Given the description of an element on the screen output the (x, y) to click on. 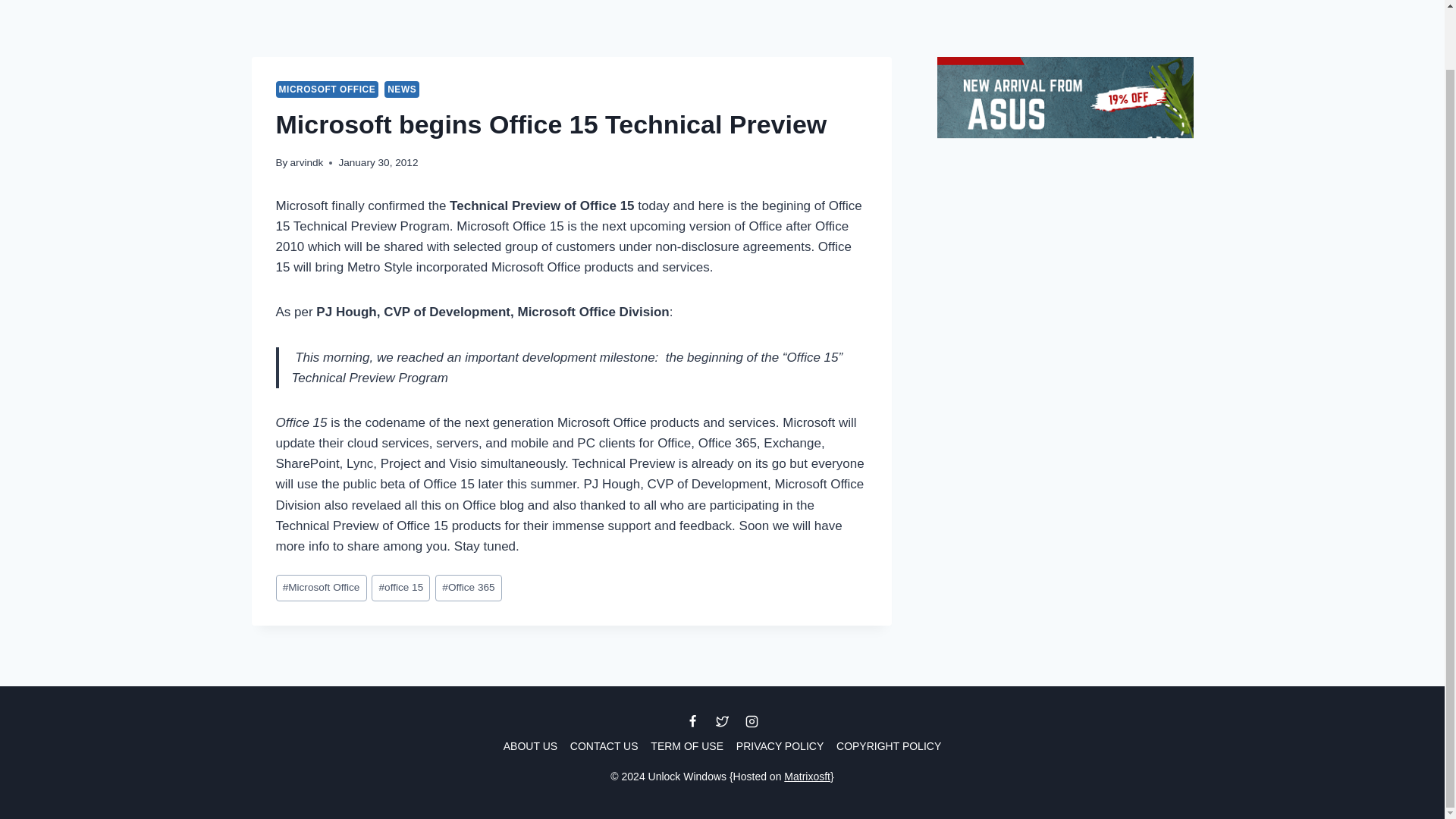
arvindk (306, 162)
Matrixosft (806, 776)
PRIVACY POLICY (779, 746)
NEWS (401, 89)
Microsoft Office (321, 587)
ASP.NET CORE Tutorial For Beginners 1 - Getting Started (1065, 434)
MICROSOFT OFFICE (327, 89)
COPYRIGHT POLICY (888, 746)
TERM OF USE (687, 746)
CONTACT US (604, 746)
